Given the description of an element on the screen output the (x, y) to click on. 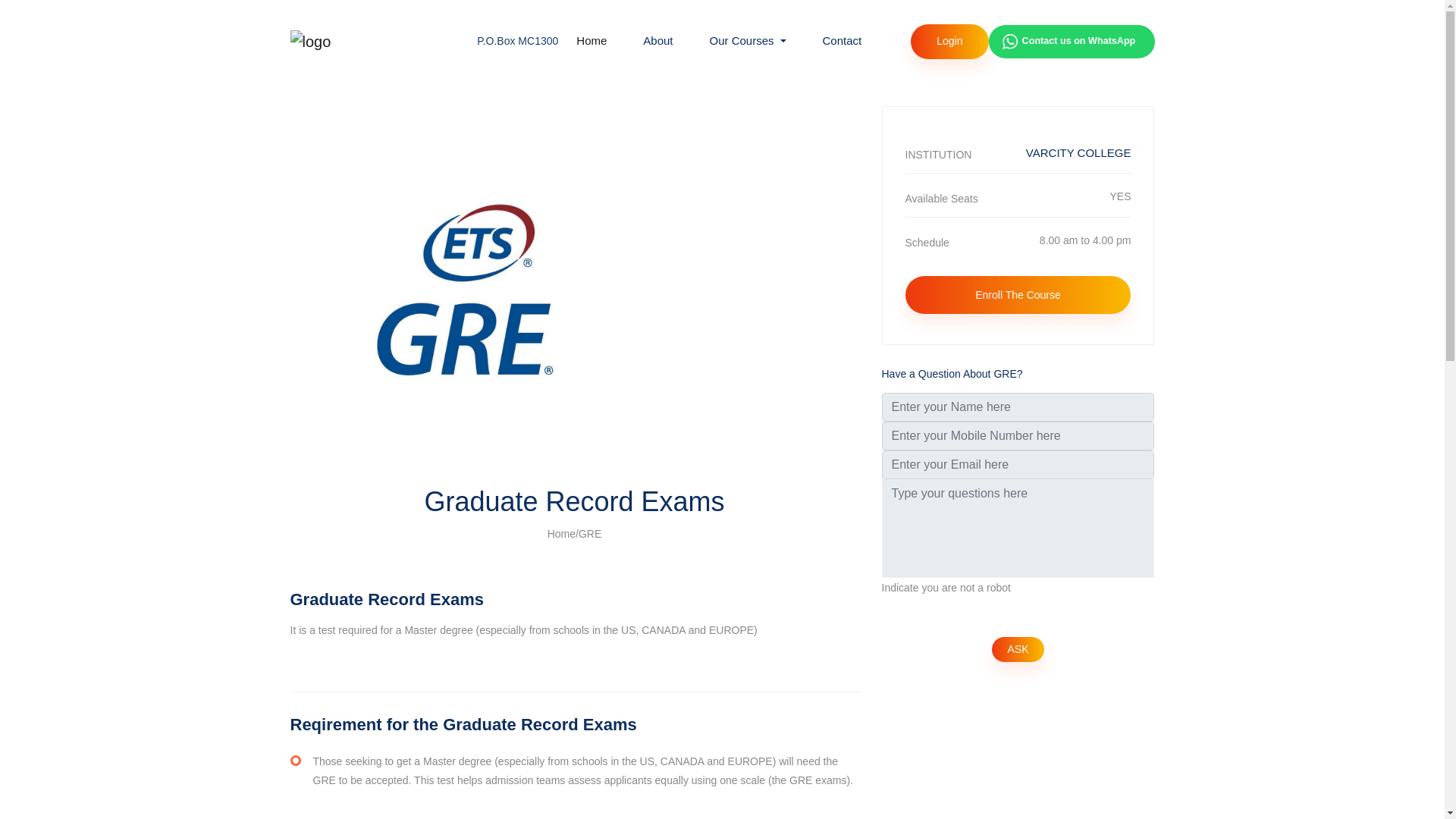
Login (949, 41)
About (657, 40)
ASK (1017, 649)
ASK (1017, 649)
Contact (842, 40)
Our Post Office Address (517, 41)
Our Courses (1018, 199)
Enroll The Course (748, 40)
